Given the description of an element on the screen output the (x, y) to click on. 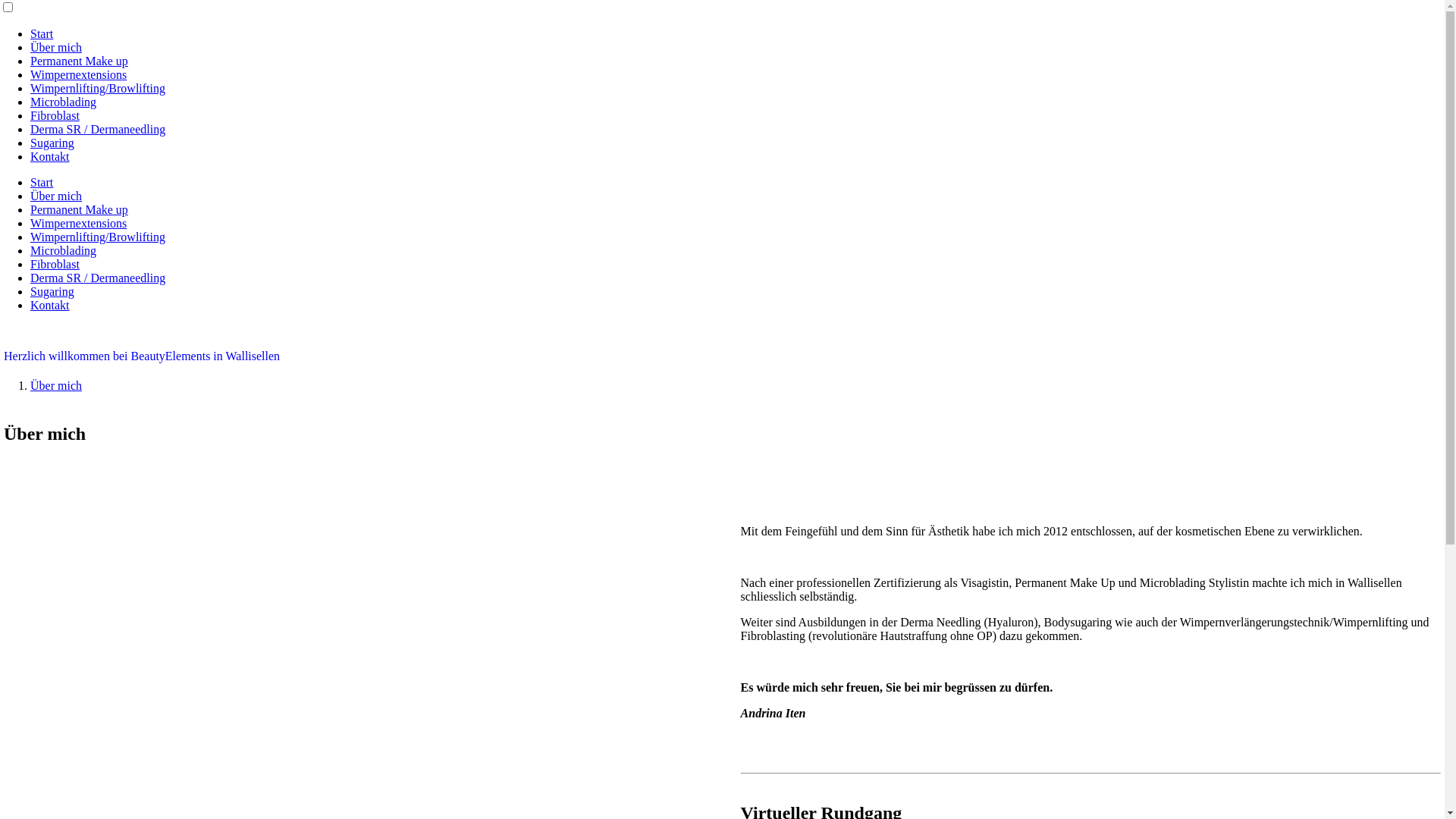
Herzlich willkommen bei BeautyElements in Wallisellen Element type: text (721, 356)
Permanent Make up Element type: text (79, 60)
Permanent Make up Element type: text (79, 209)
Kontakt Element type: text (49, 156)
Kontakt Element type: text (49, 304)
Derma SR / Dermaneedling Element type: text (97, 277)
Wimpernextensions Element type: text (78, 222)
Fibroblast Element type: text (54, 263)
Start Element type: text (41, 33)
Derma SR / Dermaneedling Element type: text (97, 128)
Wimpernlifting/Browlifting Element type: text (97, 236)
Sugaring Element type: text (52, 142)
Wimpernextensions Element type: text (78, 74)
Fibroblast Element type: text (54, 115)
Microblading Element type: text (63, 101)
Wimpernlifting/Browlifting Element type: text (97, 87)
Microblading Element type: text (63, 250)
Sugaring Element type: text (52, 291)
Start Element type: text (41, 181)
